Given the description of an element on the screen output the (x, y) to click on. 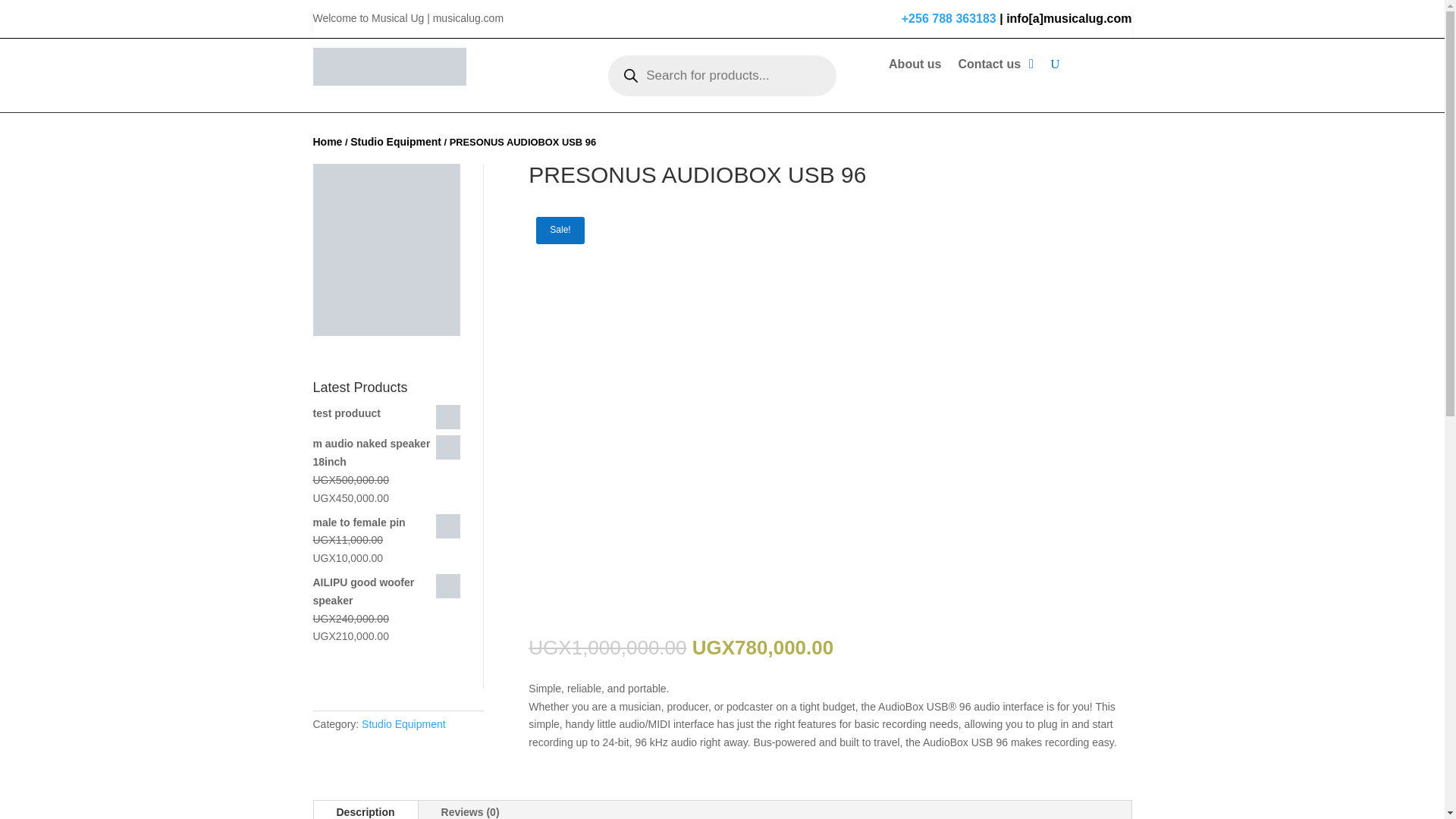
LOGO 1 new (389, 66)
Studio Equipment (395, 141)
test produuct (386, 413)
AILIPU good woofer speaker (386, 592)
male to female pin (386, 523)
Contact us (989, 67)
m audio naked speaker 18inch (386, 452)
Description (365, 809)
Studio Equipment (403, 724)
About us (914, 67)
Home (327, 141)
